Given the description of an element on the screen output the (x, y) to click on. 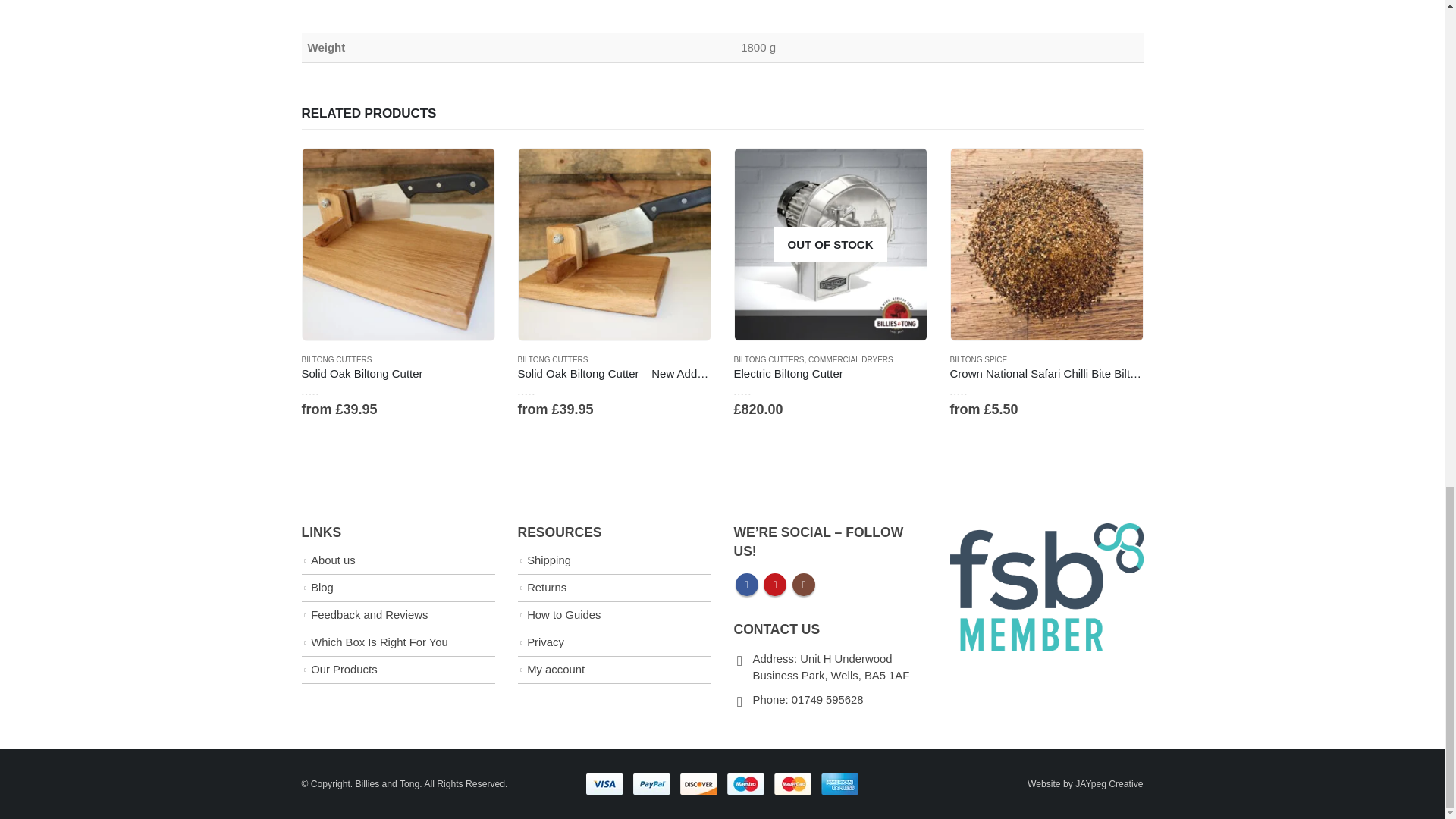
Solid Oak Biltong Cutter (398, 373)
BILTONG CUTTERS (336, 359)
0 (541, 390)
0 (326, 390)
